Given the description of an element on the screen output the (x, y) to click on. 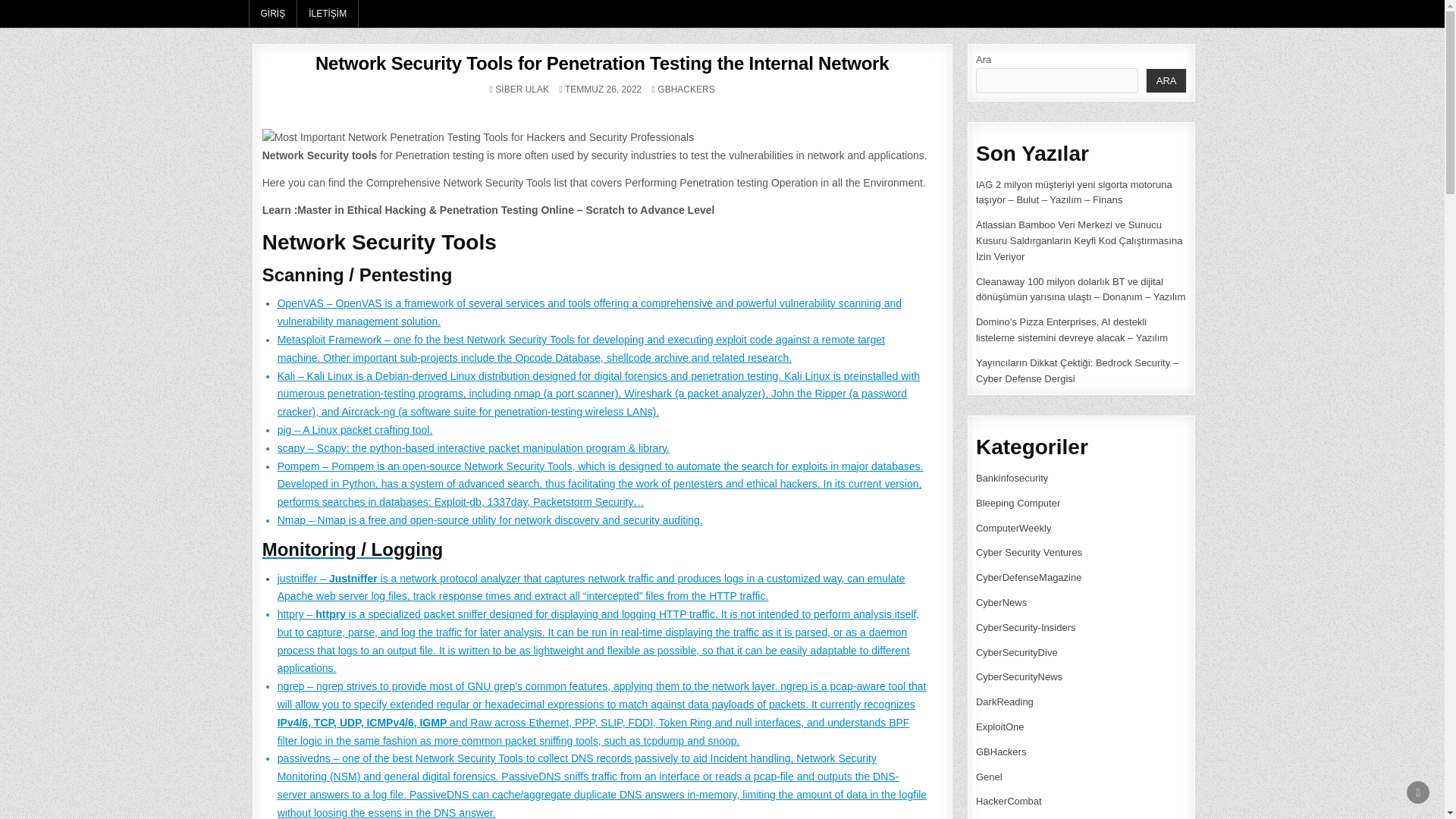
Scroll to Top (1417, 792)
GBHACKERS (686, 89)
SIBER ULAK (521, 89)
SCROLL TO TOP (1417, 792)
